Given the description of an element on the screen output the (x, y) to click on. 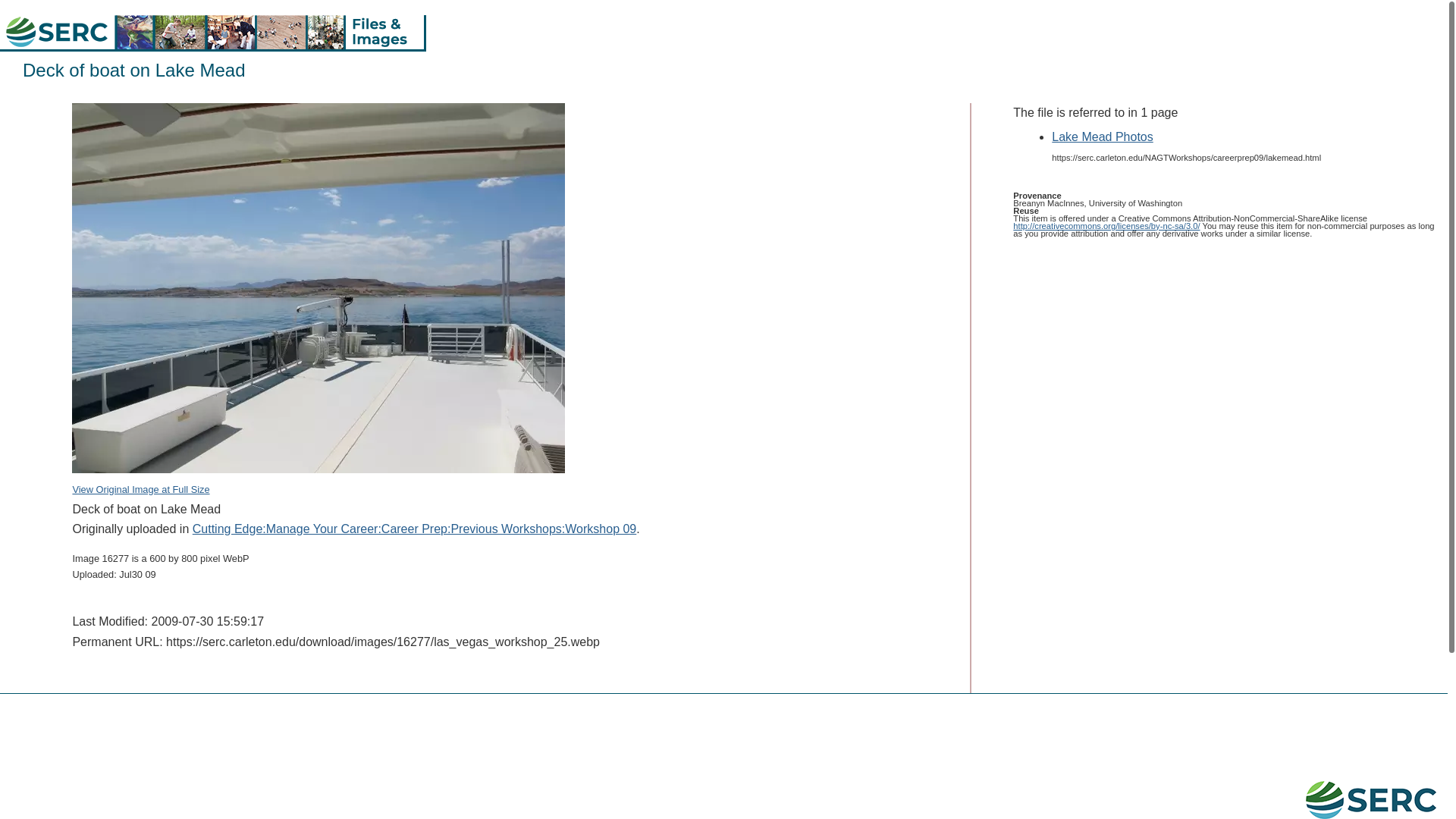
View Original Image at Full Size (317, 478)
Lake Mead Photos (1102, 136)
